Given the description of an element on the screen output the (x, y) to click on. 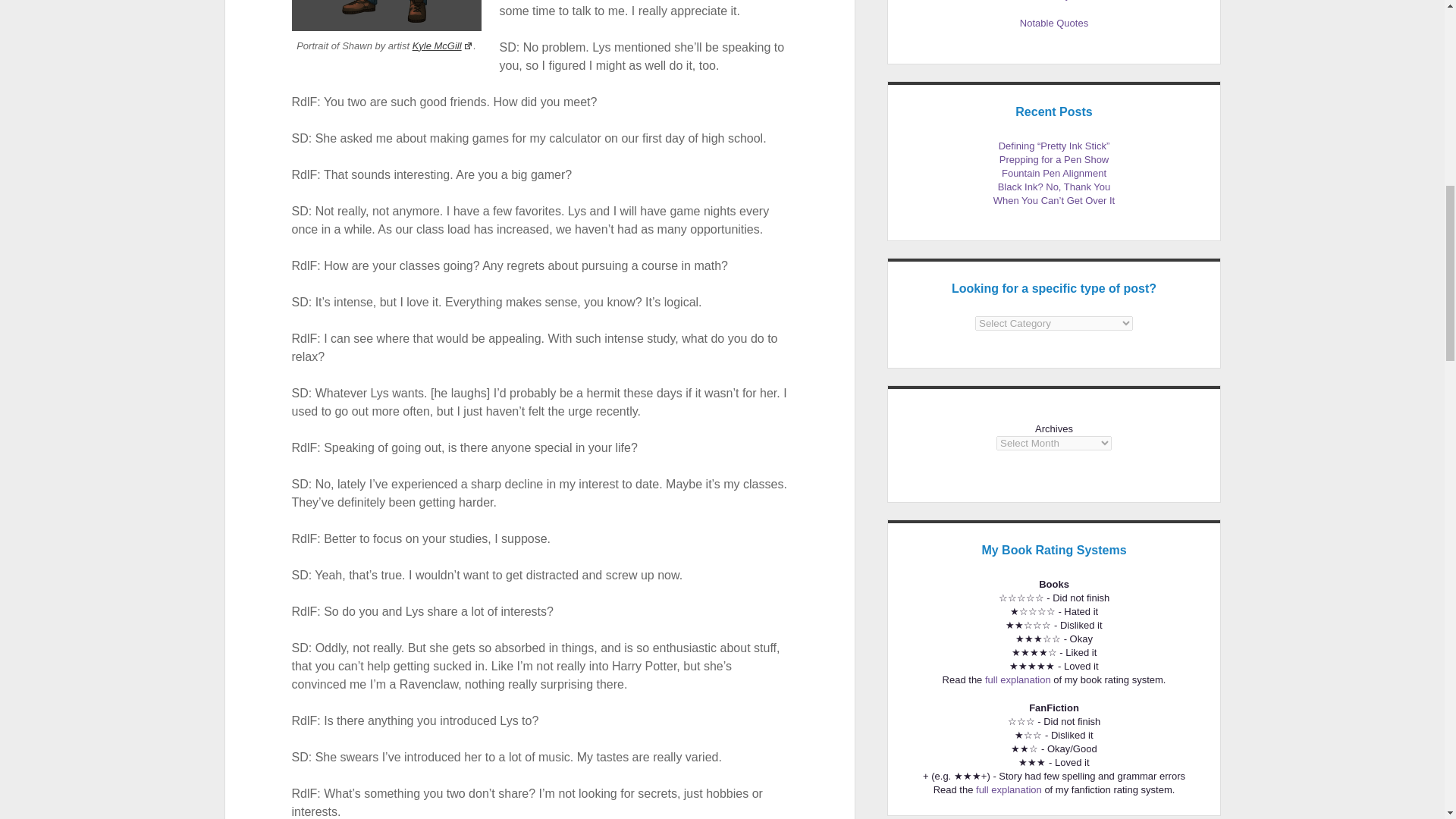
Kyle McGill (443, 45)
